Given the description of an element on the screen output the (x, y) to click on. 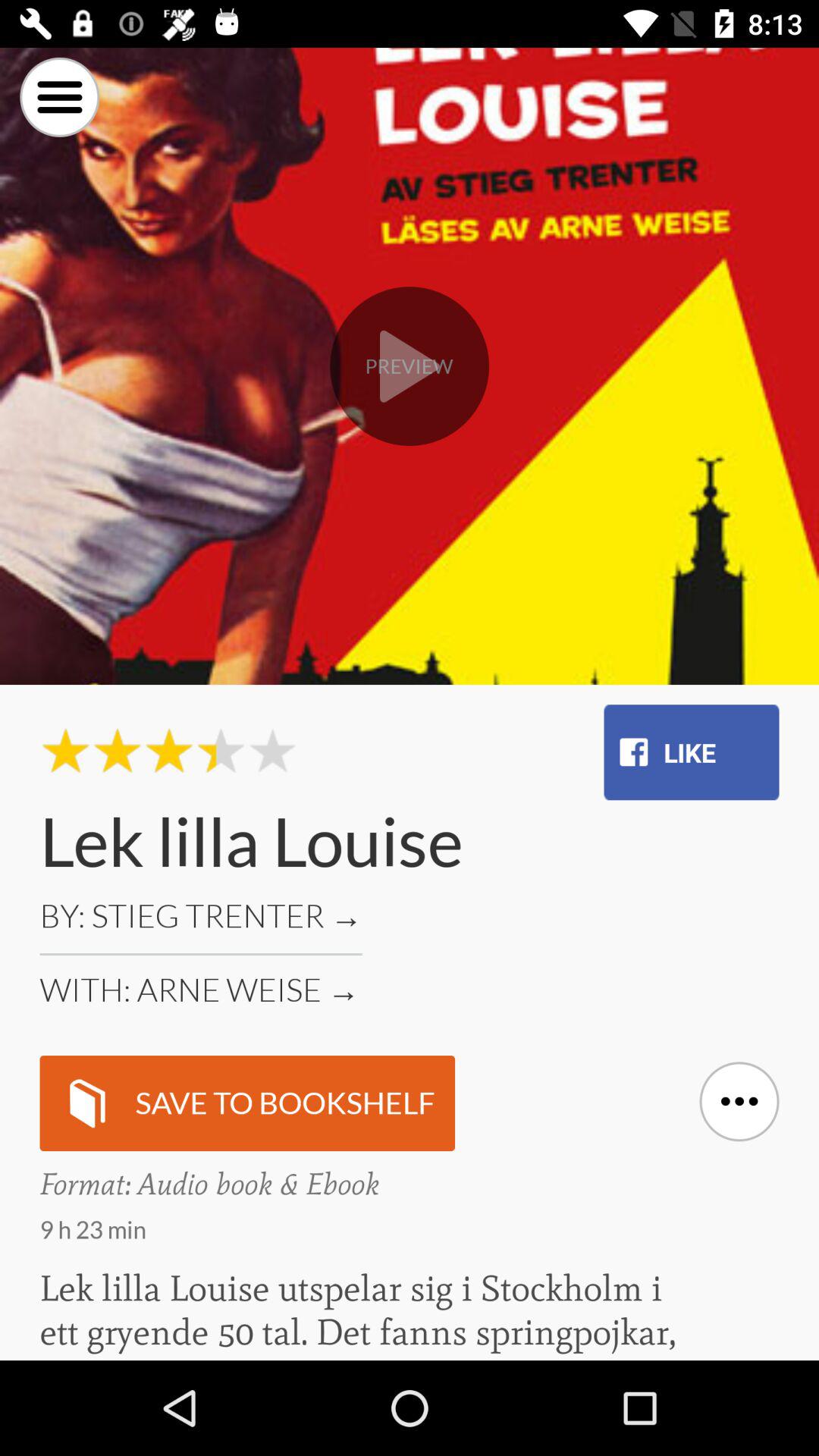
go to play button (409, 365)
